Given the description of an element on the screen output the (x, y) to click on. 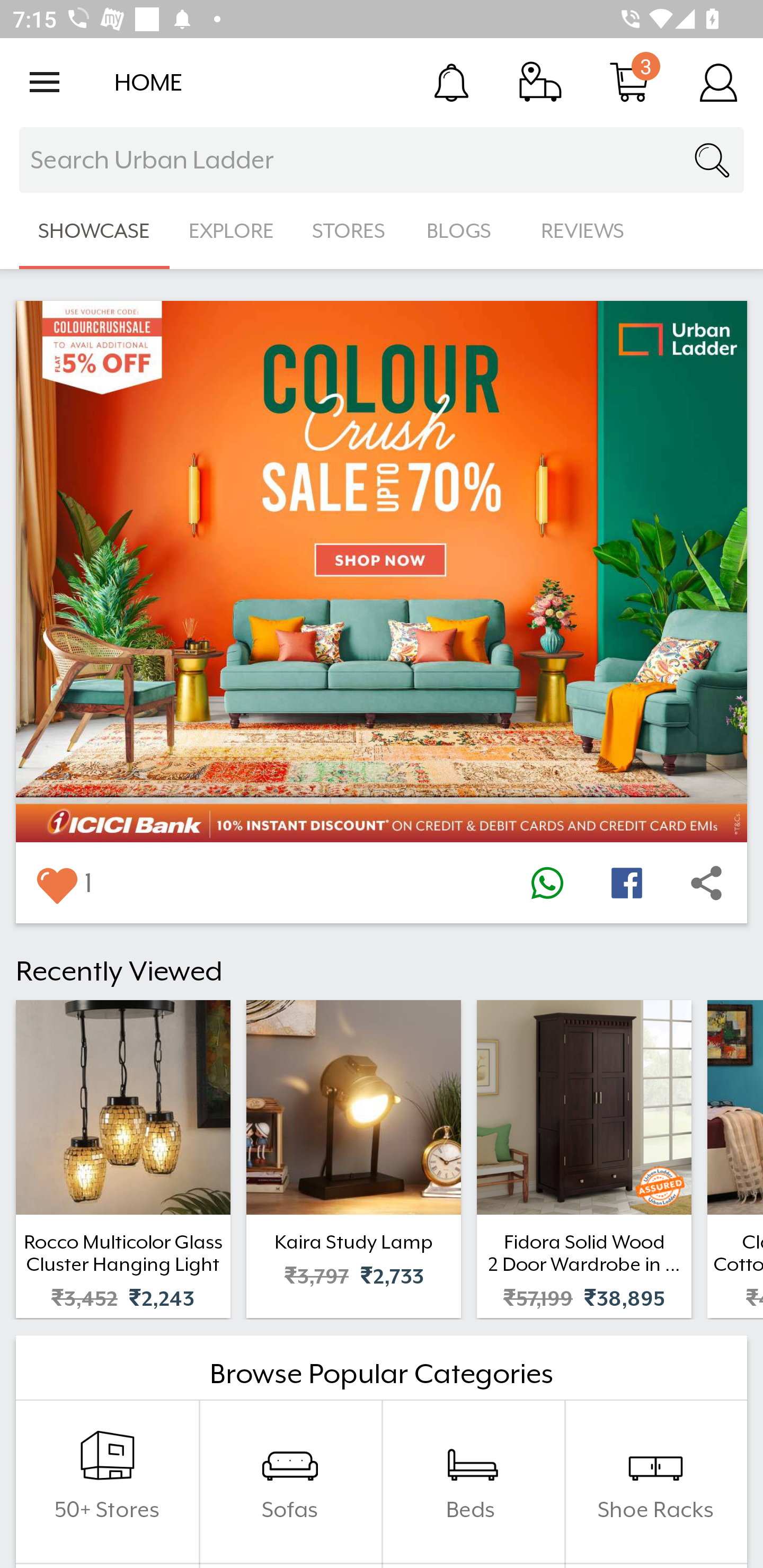
Open navigation drawer (44, 82)
Notification (450, 81)
Track Order (540, 81)
Cart (629, 81)
Account Details (718, 81)
Search Urban Ladder  (381, 159)
SHOWCASE (94, 230)
EXPLORE (230, 230)
STORES (349, 230)
BLOGS (464, 230)
REVIEWS (582, 230)
 (55, 882)
 (547, 882)
 (626, 882)
 (706, 882)
Kaira Study Lamp ₹3,797 ₹2,733 (353, 1159)
50+ Stores (106, 1481)
Sofas (289, 1481)
Beds  (473, 1481)
Shoe Racks (655, 1481)
